Given the description of an element on the screen output the (x, y) to click on. 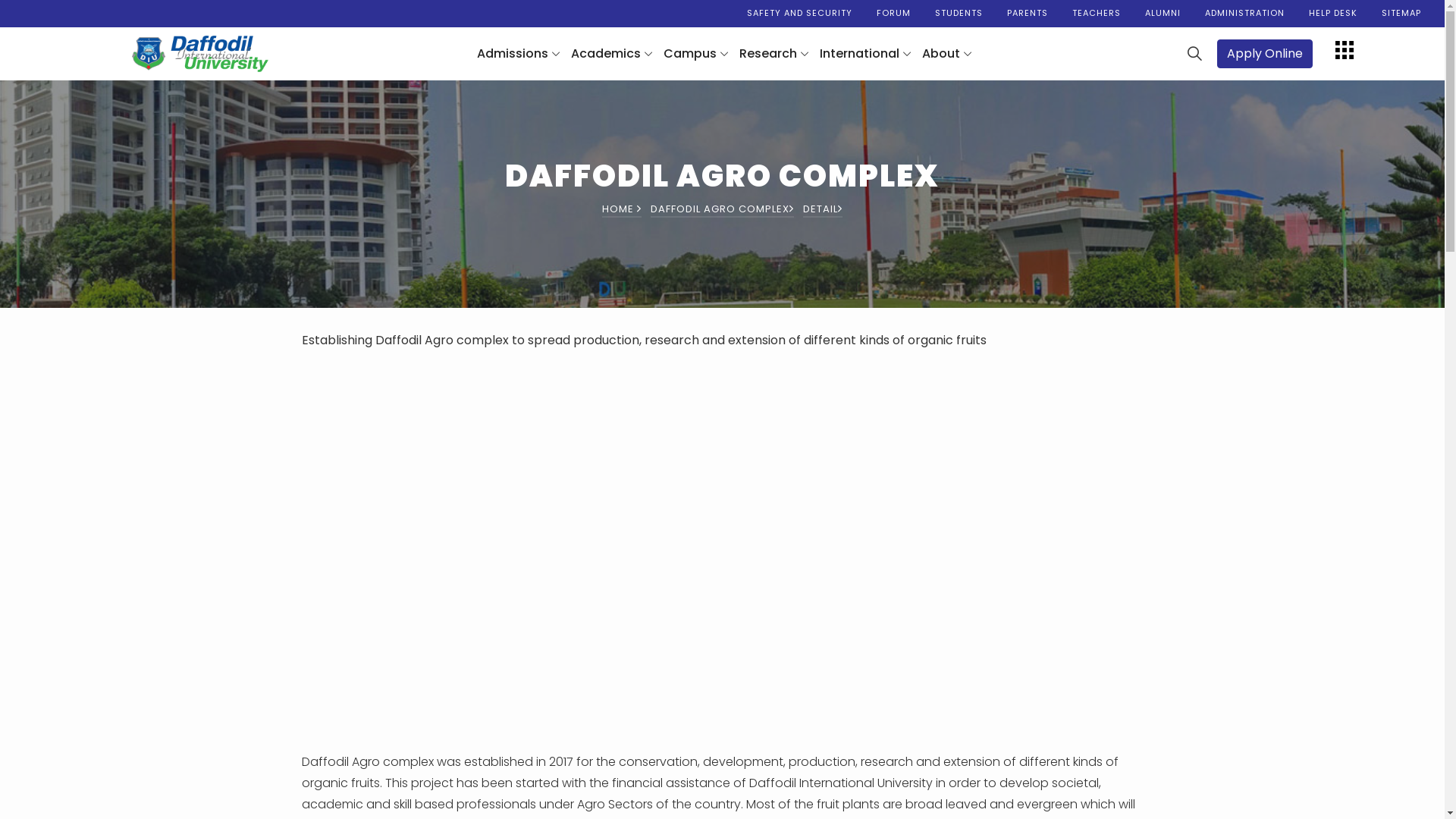
FORUM Element type: text (893, 13)
PARENTS Element type: text (1027, 13)
SITEMAP Element type: text (1401, 13)
STUDENTS Element type: text (958, 13)
HELP DESK Element type: text (1332, 13)
Apply Online Element type: text (1264, 53)
DAFFODIL AGRO COMPLEX Element type: text (721, 208)
HOME Element type: text (621, 208)
International Element type: text (865, 53)
Research Element type: text (773, 53)
ALUMNI Element type: text (1162, 13)
TEACHERS Element type: text (1096, 13)
Academics Element type: text (611, 53)
Admissions Element type: text (518, 53)
SAFETY AND SECURITY Element type: text (799, 13)
ADMINISTRATION Element type: text (1244, 13)
About Element type: text (946, 53)
Campus Element type: text (695, 53)
